Given the description of an element on the screen output the (x, y) to click on. 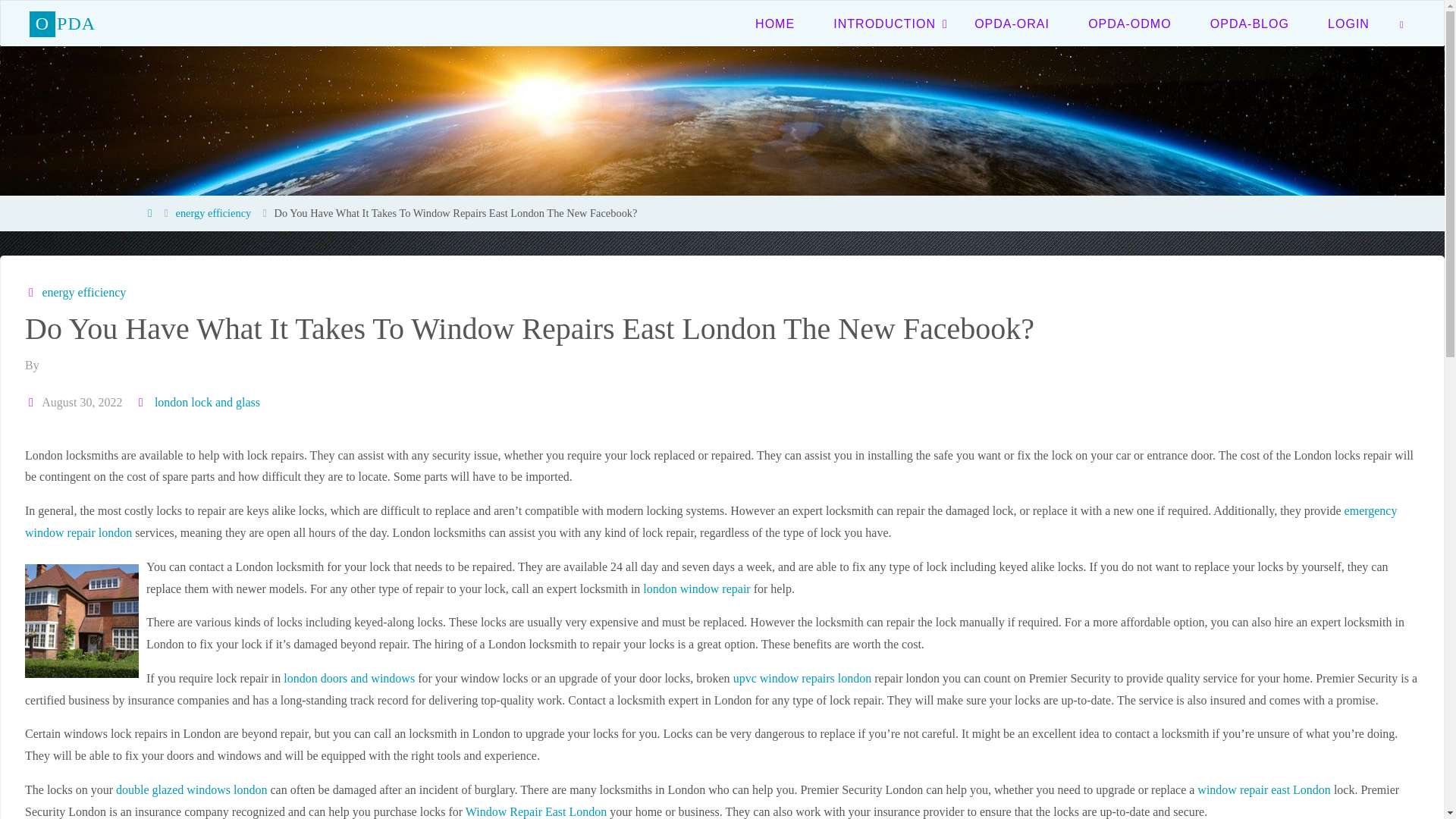
upvc window repairs london (802, 677)
OPDA (62, 22)
Date (31, 401)
london doors and windows (348, 677)
OPDA-ORAI (1011, 22)
LOGIN (1348, 22)
london lock and glass (206, 401)
INTRODUCTION (884, 22)
Categories (31, 291)
OPDA-ODMO (1129, 22)
